Given the description of an element on the screen output the (x, y) to click on. 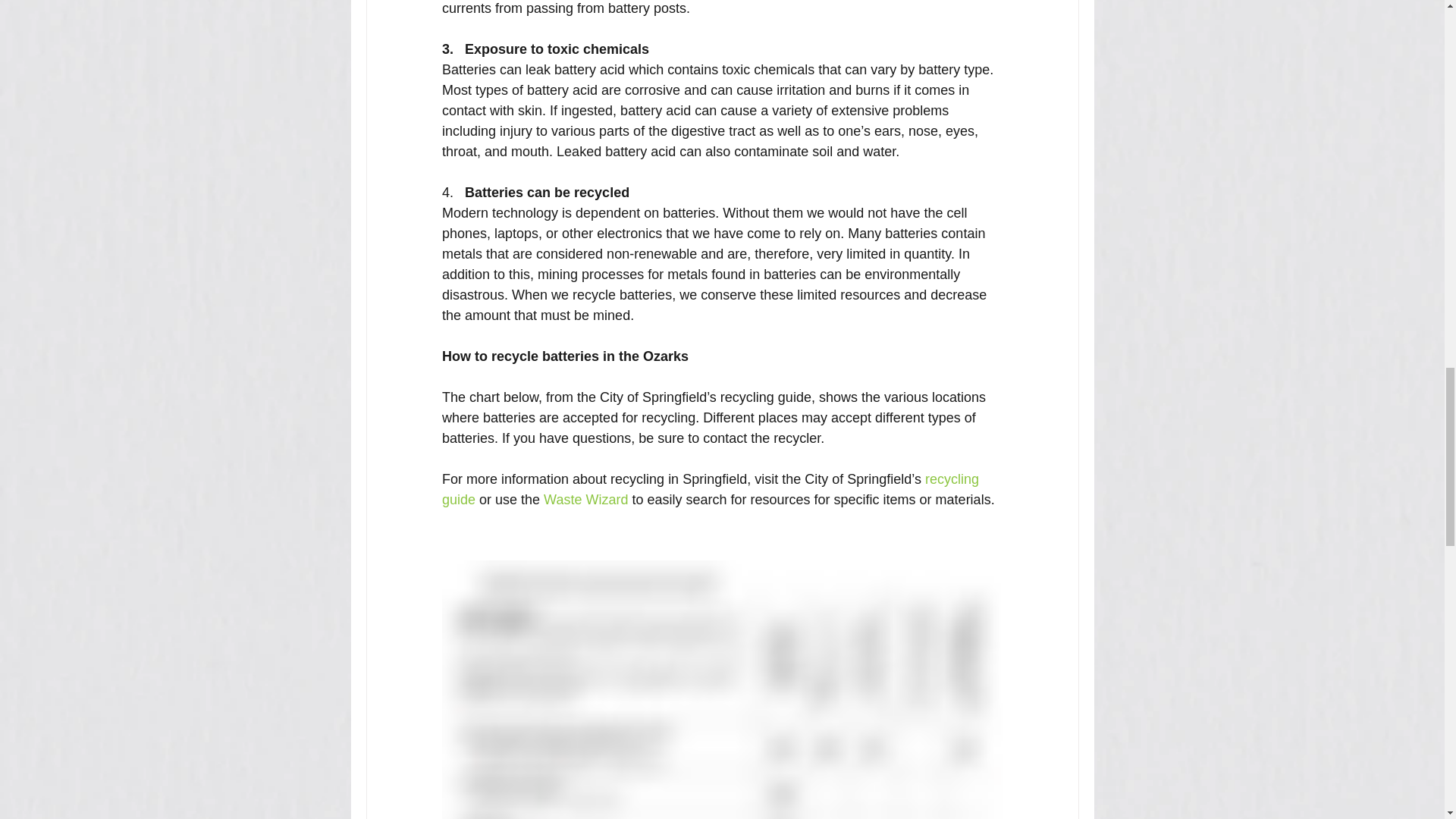
Waste Wizard (585, 499)
recycling guide (711, 488)
